Given the description of an element on the screen output the (x, y) to click on. 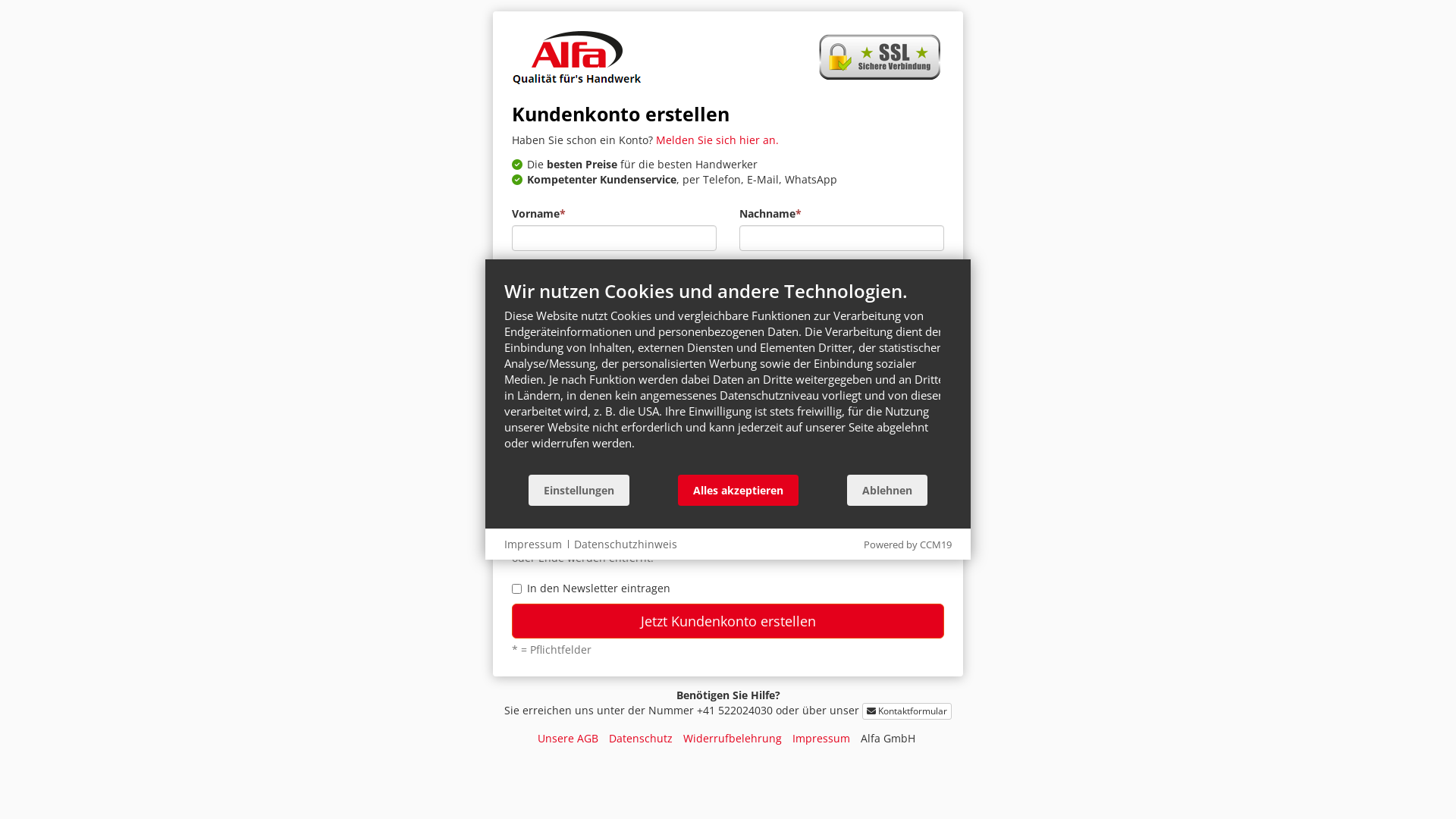
Widerrufbelehrung Element type: text (731, 738)
Alles akzeptieren Element type: text (737, 489)
Postleitzahl Element type: hover (841, 349)
Impressum Element type: text (532, 544)
Vorname Element type: hover (613, 237)
Kontaktformular Element type: text (906, 710)
Bitte nochmal eingeben Element type: hover (835, 517)
E-Mail Adresse Element type: hover (619, 461)
Geben Sie ein neues Passwort ein Element type: hover (613, 517)
Impressum Element type: text (820, 738)
Melden Sie sich hier an. Element type: text (716, 138)
Datenschutz Element type: text (639, 738)
Stadt Element type: hover (613, 405)
Datenschutzhinweis Element type: text (625, 544)
Firma Element type: hover (613, 293)
Ablehnen Element type: text (887, 489)
Ihre Daten sind bei uns sicher! Element type: hover (879, 57)
Einstellungen Element type: text (578, 489)
Unsere AGB Element type: text (566, 738)
Nachname Element type: hover (841, 237)
Telefon Element type: hover (841, 293)
Jetzt Kundenkonto erstellen Element type: text (727, 620)
Powered by CCM19 Element type: text (907, 544)
